Given the description of an element on the screen output the (x, y) to click on. 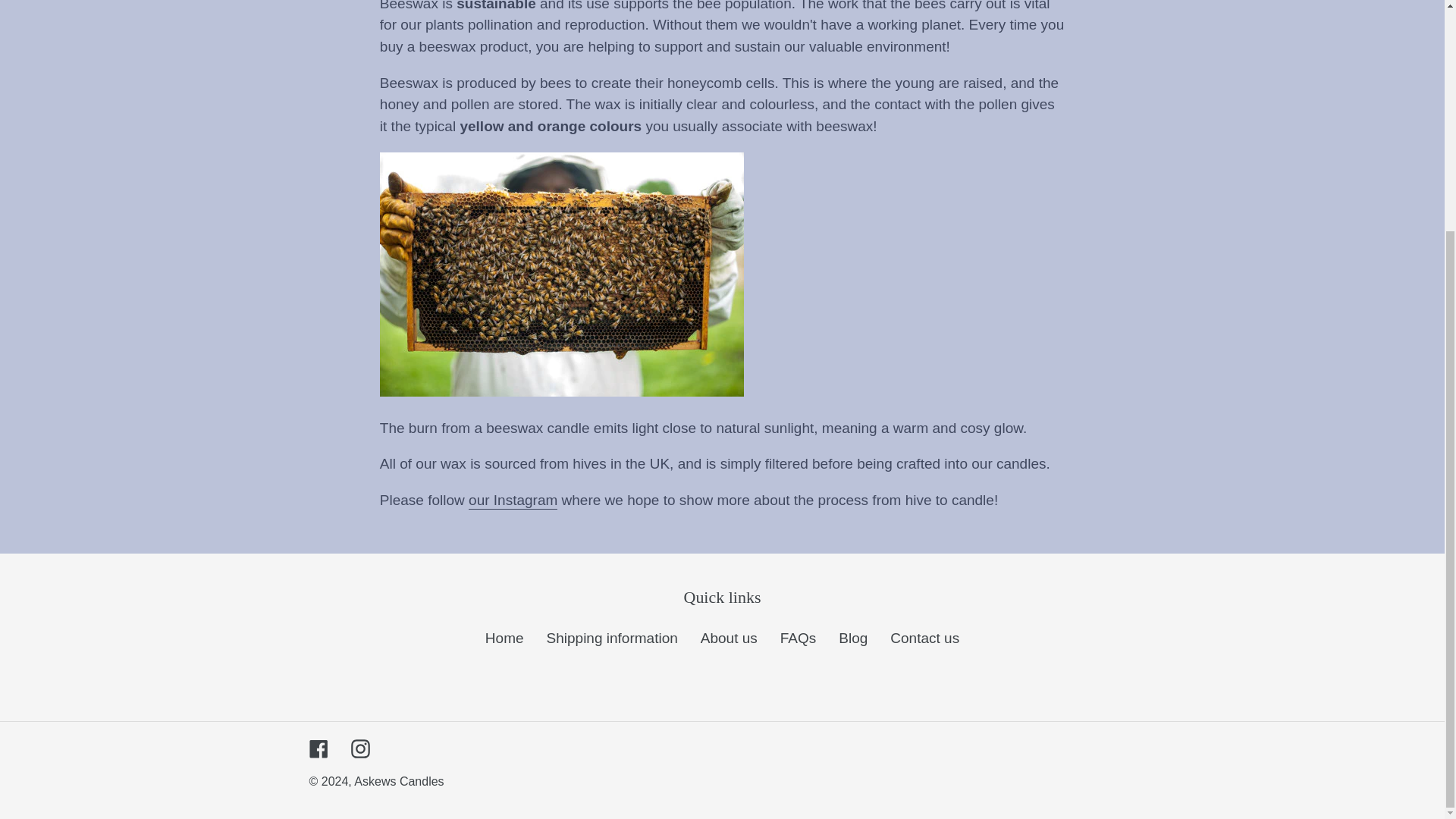
Shipping information (612, 637)
Blog (852, 637)
FAQs (798, 637)
Contact us (924, 637)
our Instagram (512, 500)
Home (504, 637)
Askews Candles (398, 780)
About us (728, 637)
